Given the description of an element on the screen output the (x, y) to click on. 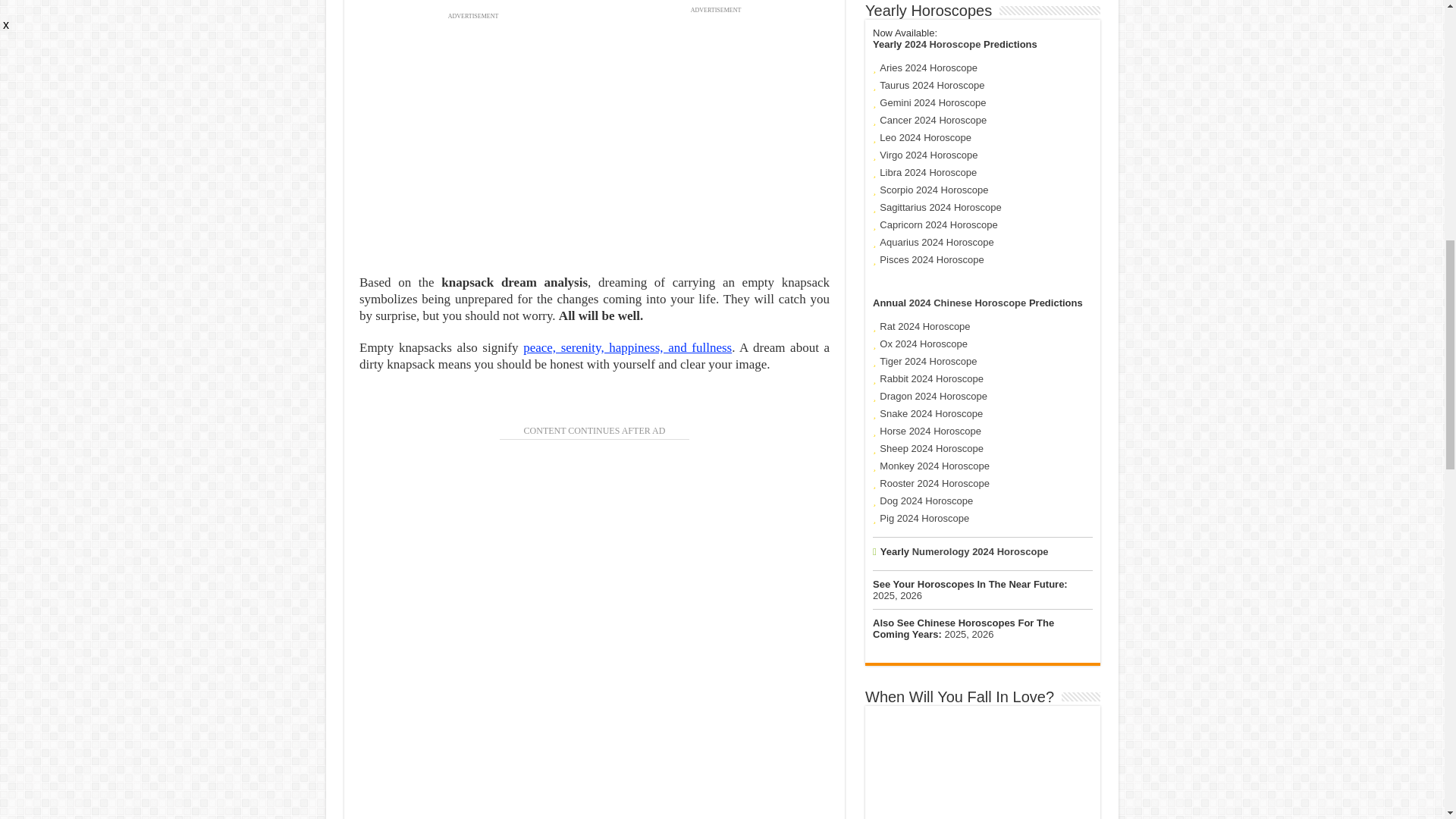
peace, serenity, happiness, and fullness (627, 347)
2024 Horoscope (941, 43)
